Given the description of an element on the screen output the (x, y) to click on. 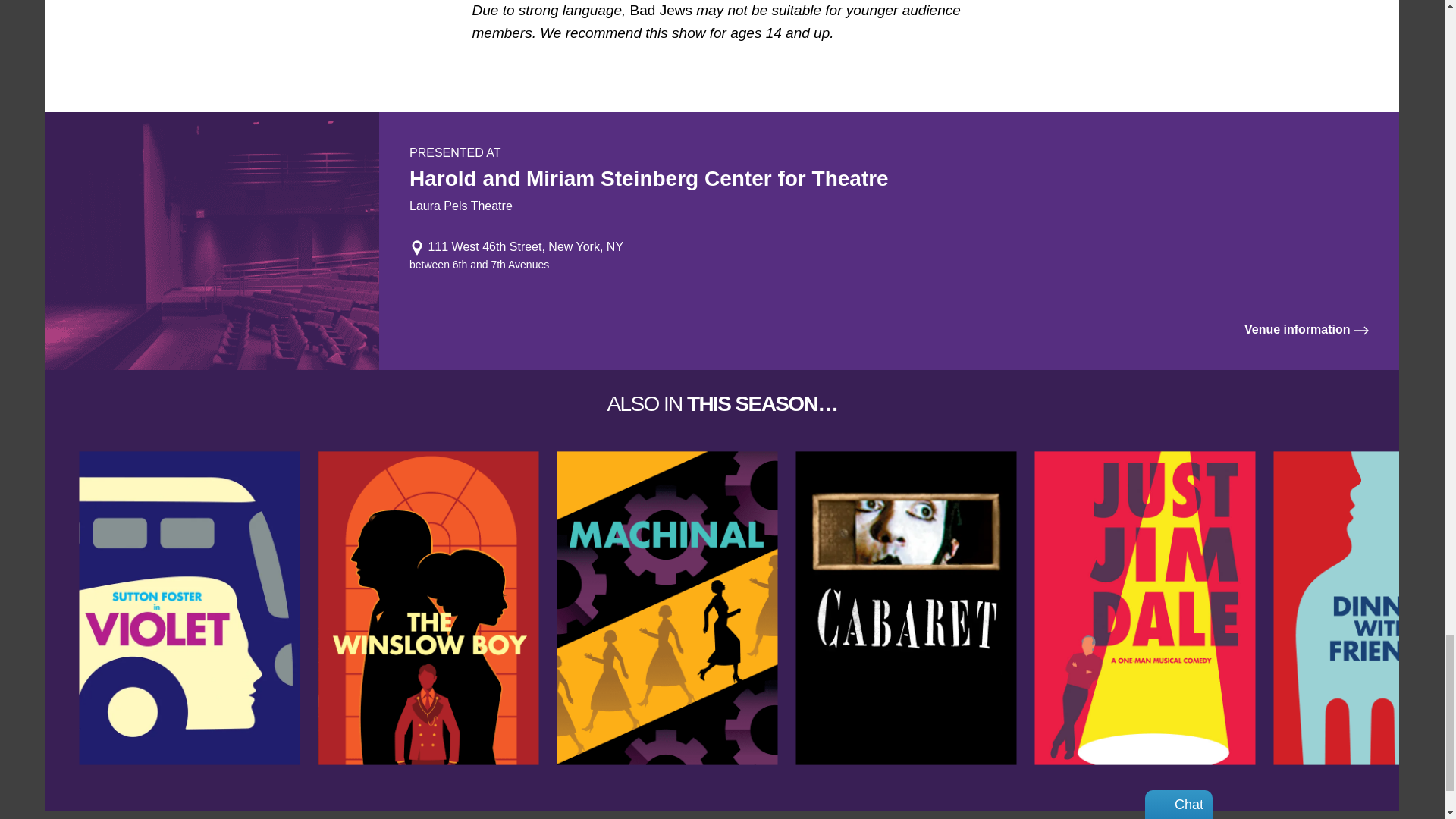
THE WINSLOW BOY (427, 607)
THE WINSLOW BOY (427, 607)
CABARET (906, 607)
DINNER WITH FRIENDS (1362, 607)
VIOLET (188, 607)
JUST JIM DALE (1144, 607)
CABARET (906, 607)
MACHINAL (666, 607)
VIOLET (188, 607)
JUST JIM DALE (1144, 607)
DINNER WITH FRIENDS (1362, 607)
MACHINAL (666, 607)
